Given the description of an element on the screen output the (x, y) to click on. 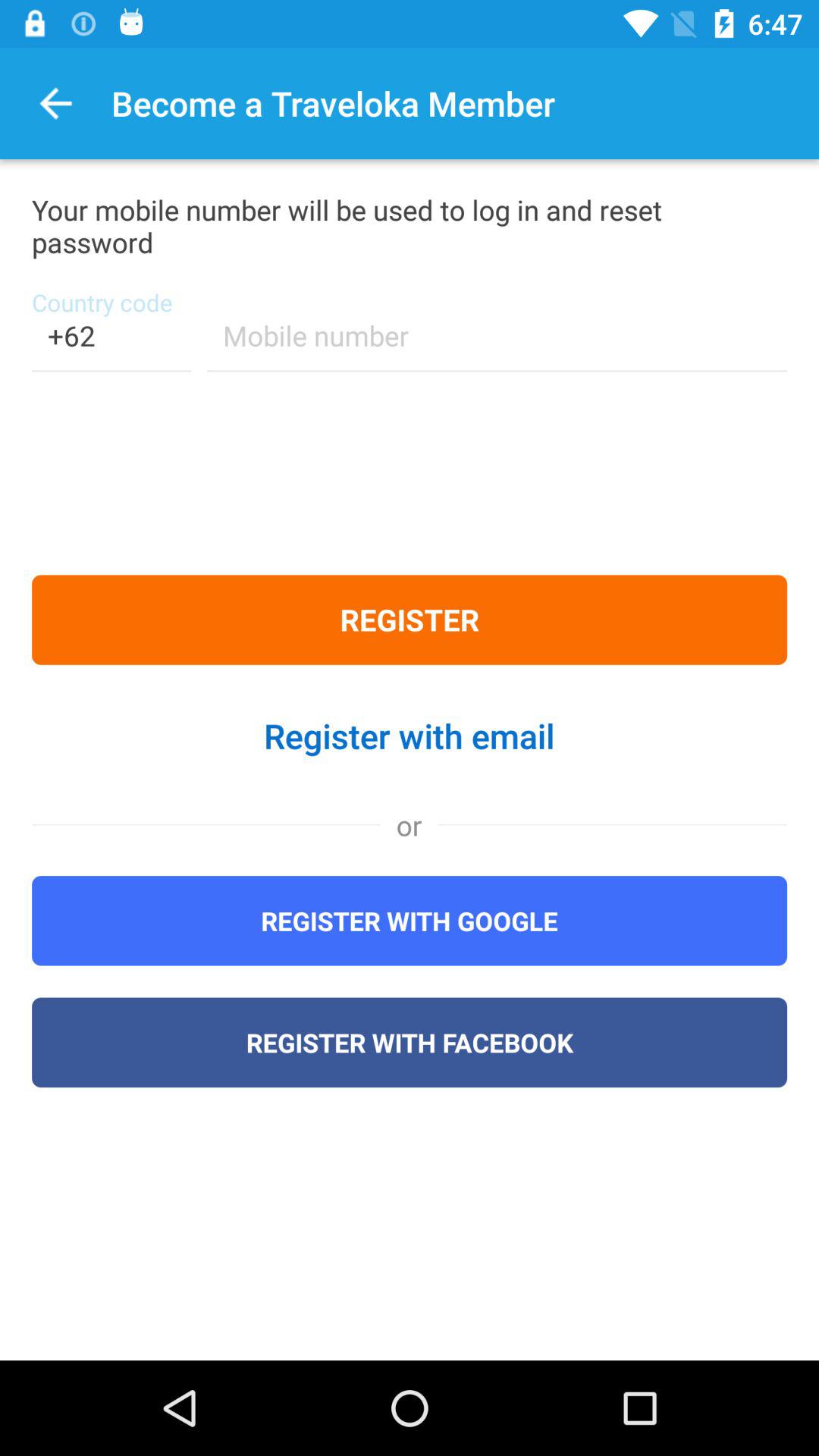
turn on the item next to the become a traveloka item (55, 103)
